Given the description of an element on the screen output the (x, y) to click on. 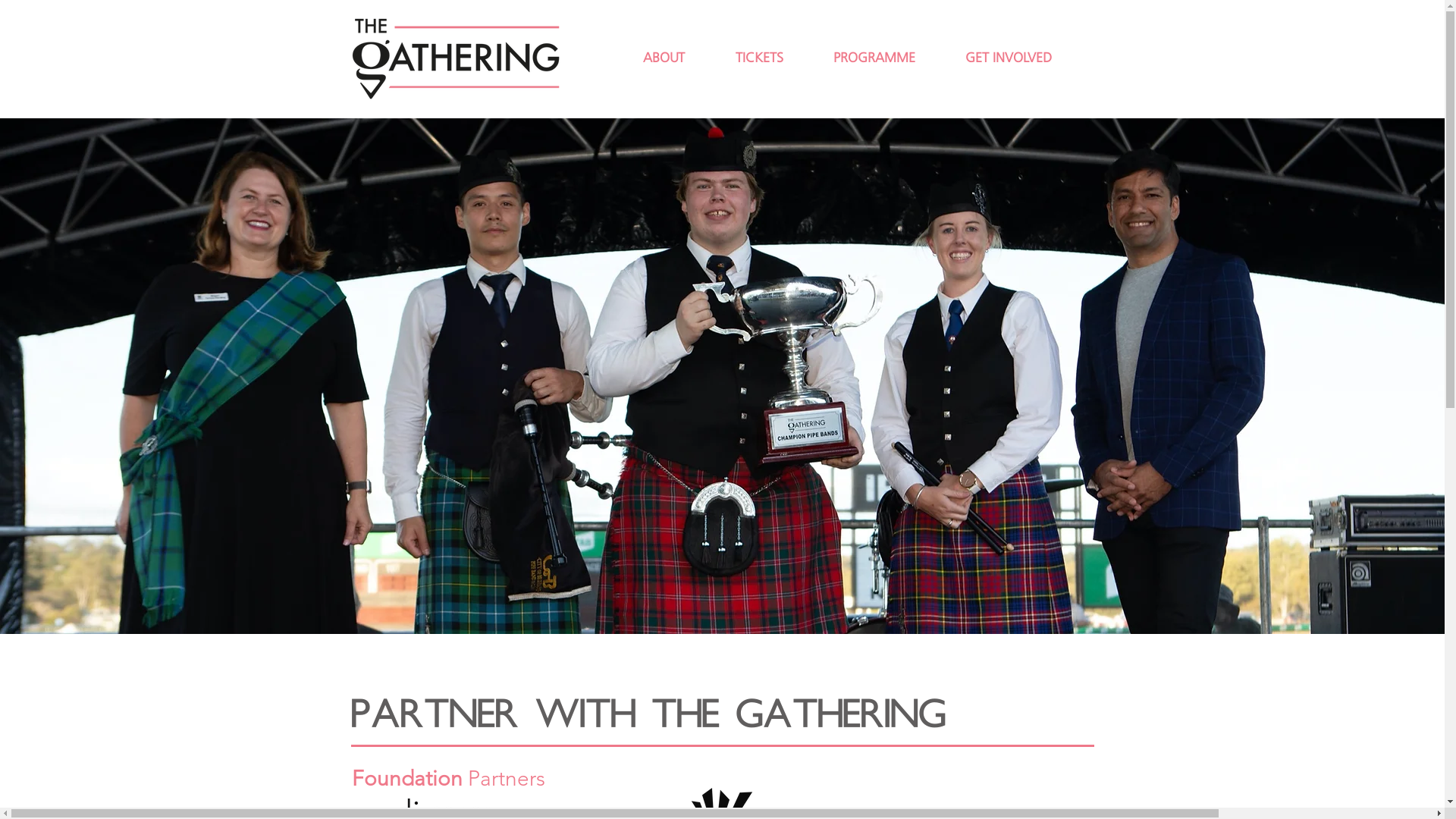
ABOUT Element type: text (676, 57)
PROGRAMME Element type: text (887, 57)
TICKETS Element type: text (772, 57)
